Given the description of an element on the screen output the (x, y) to click on. 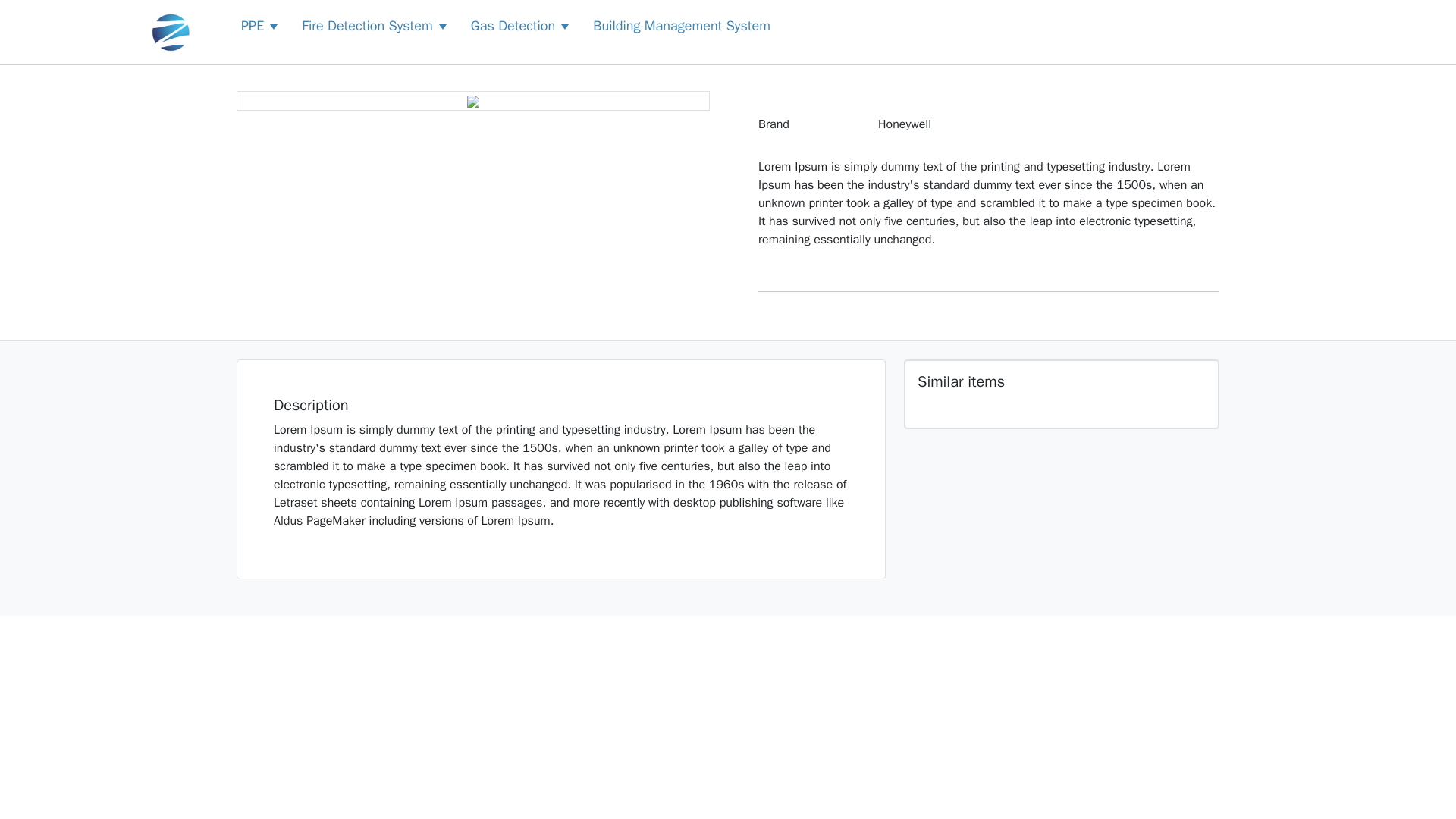
Fire Detection System (373, 26)
PPE (258, 26)
PPE (252, 25)
Gas Detection (512, 25)
Fire Detection System (366, 25)
Gas Detection (519, 26)
Building Management System (681, 26)
